Given the description of an element on the screen output the (x, y) to click on. 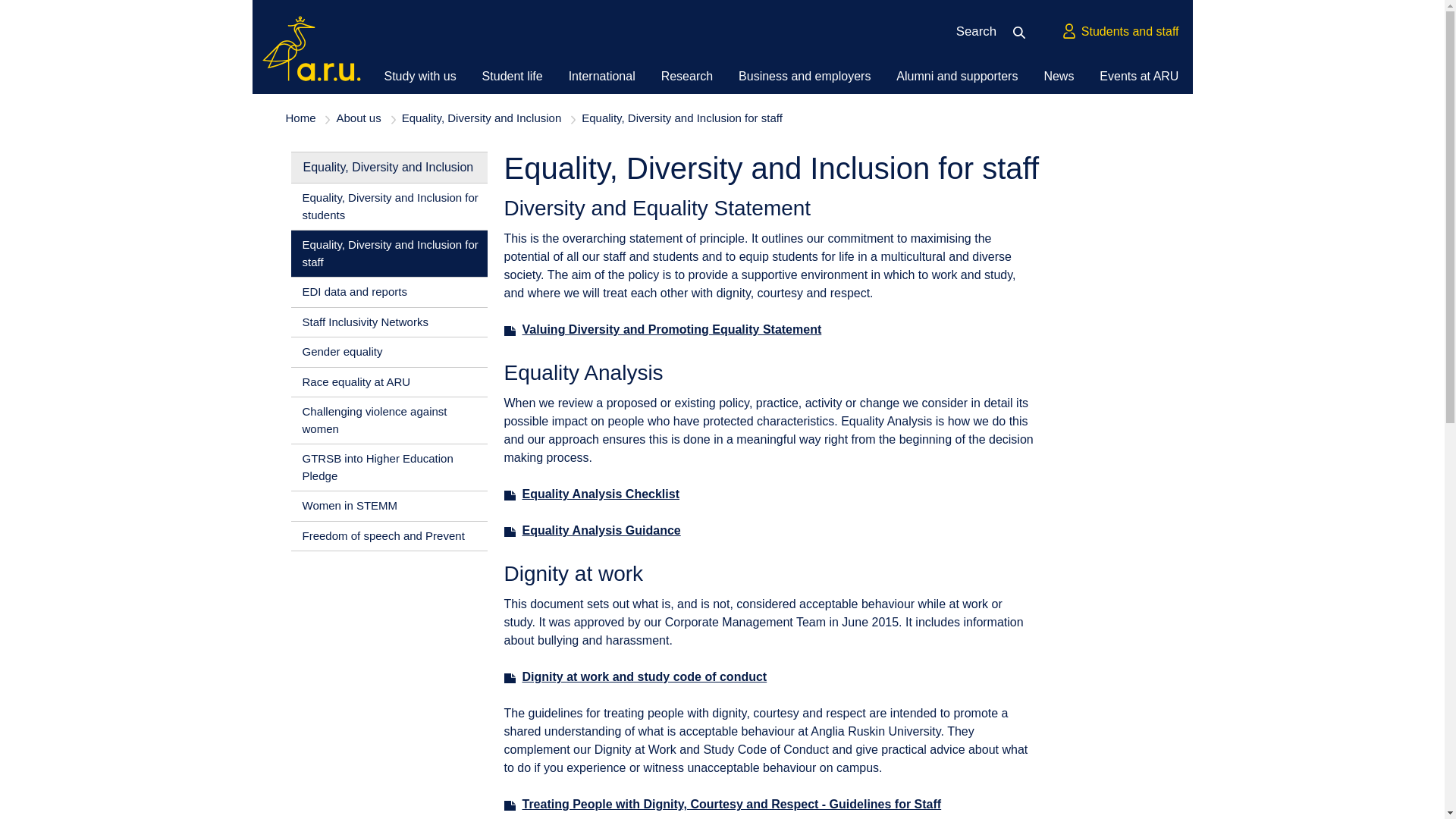
Students and staff (1119, 31)
Search the Anglia Ruskin website (1023, 31)
Student life (512, 76)
Study with us (419, 76)
